Given the description of an element on the screen output the (x, y) to click on. 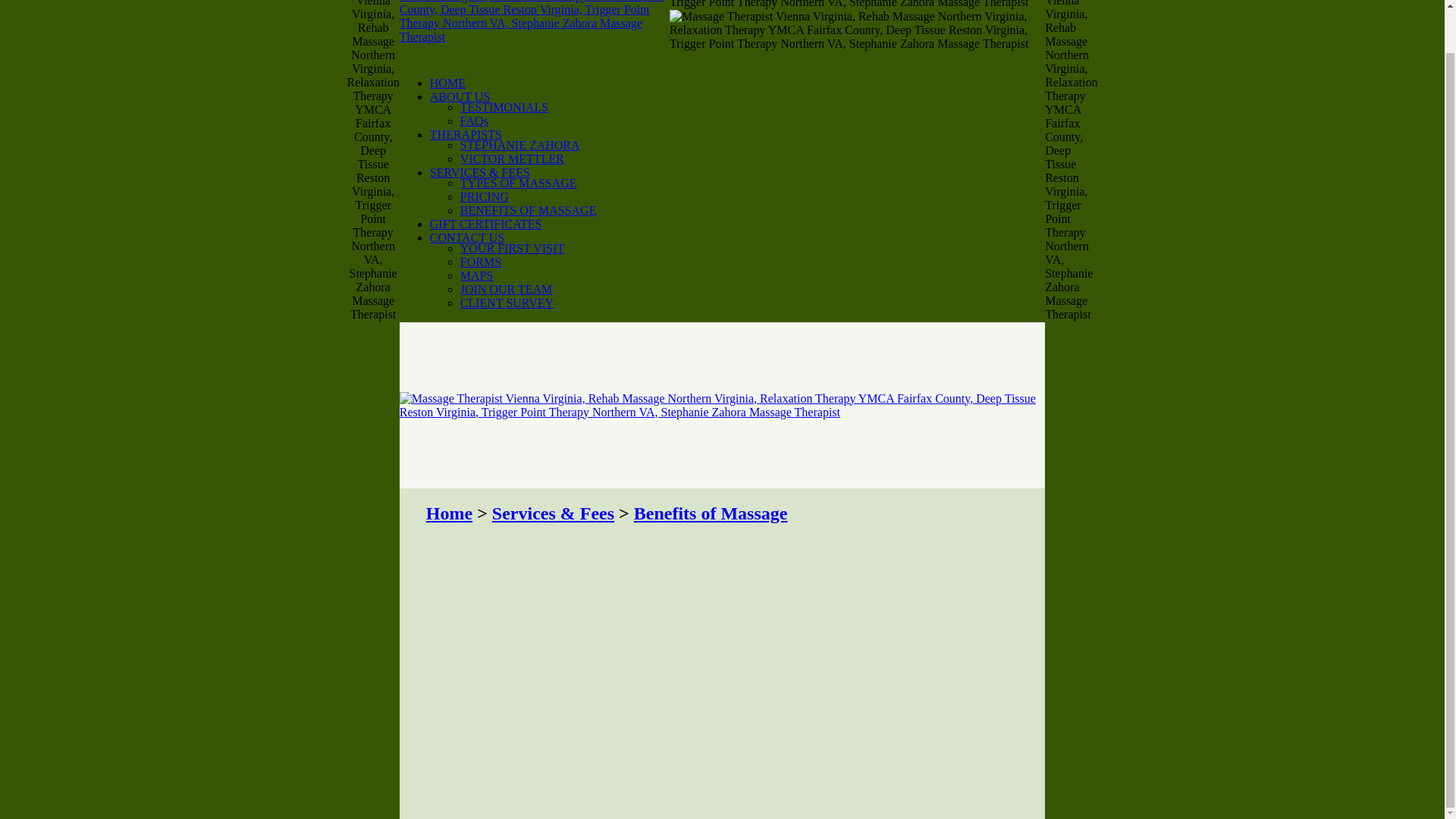
GIFT CERTIFICATES (485, 223)
VICTOR METTLER (512, 158)
PRICING (484, 196)
HOME (447, 82)
CONTACT US (466, 237)
TYPES OF MASSAGE (518, 182)
STEPHANIE ZAHORA (519, 144)
JOIN OUR TEAM (505, 288)
MAPS (476, 275)
TESTIMONIALS (504, 106)
CLIENT SURVEY (506, 302)
Home (448, 513)
BENEFITS OF MASSAGE (528, 210)
FORMS (480, 261)
FAQs (473, 120)
